Given the description of an element on the screen output the (x, y) to click on. 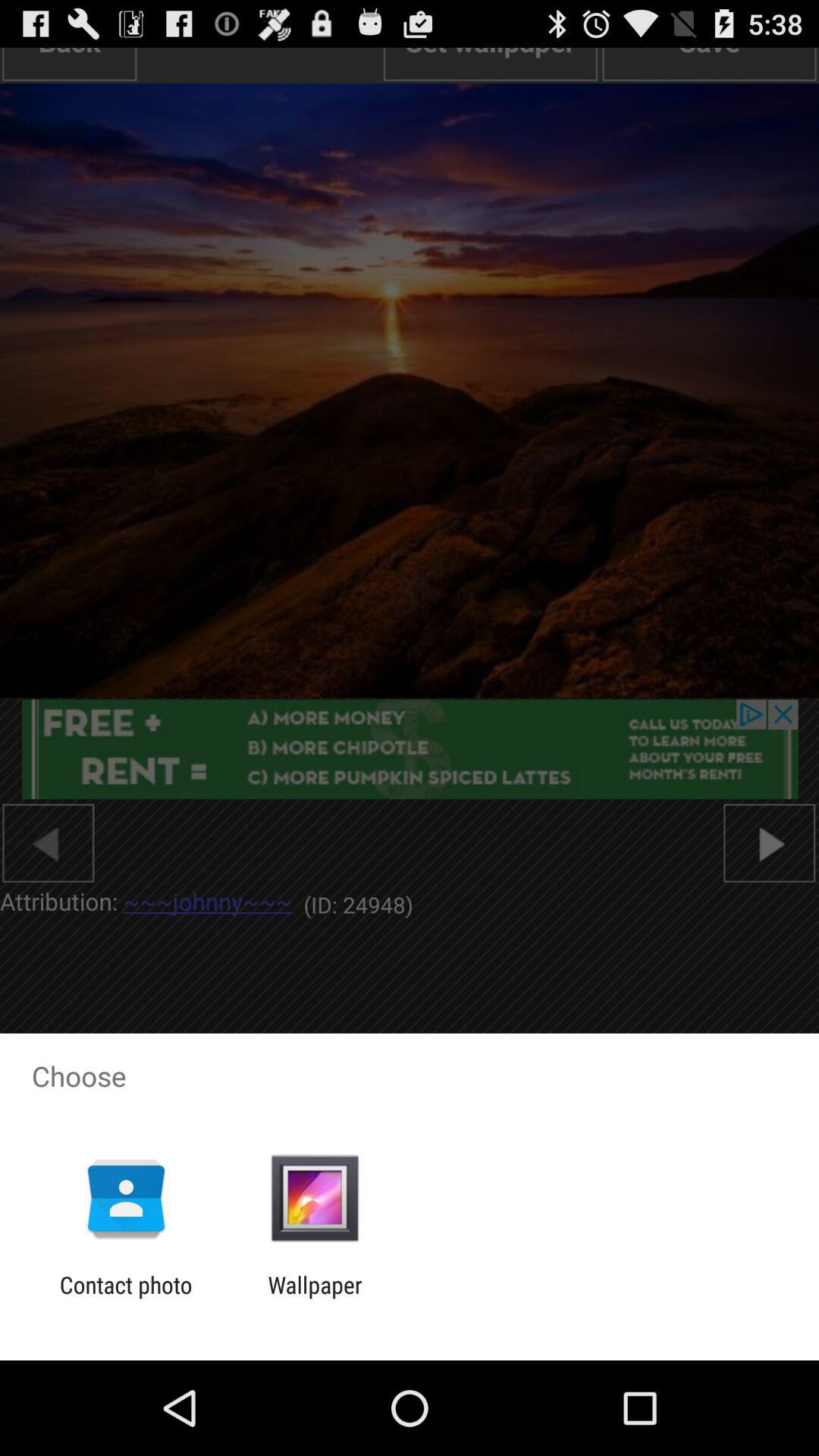
tap the contact photo item (125, 1298)
